Given the description of an element on the screen output the (x, y) to click on. 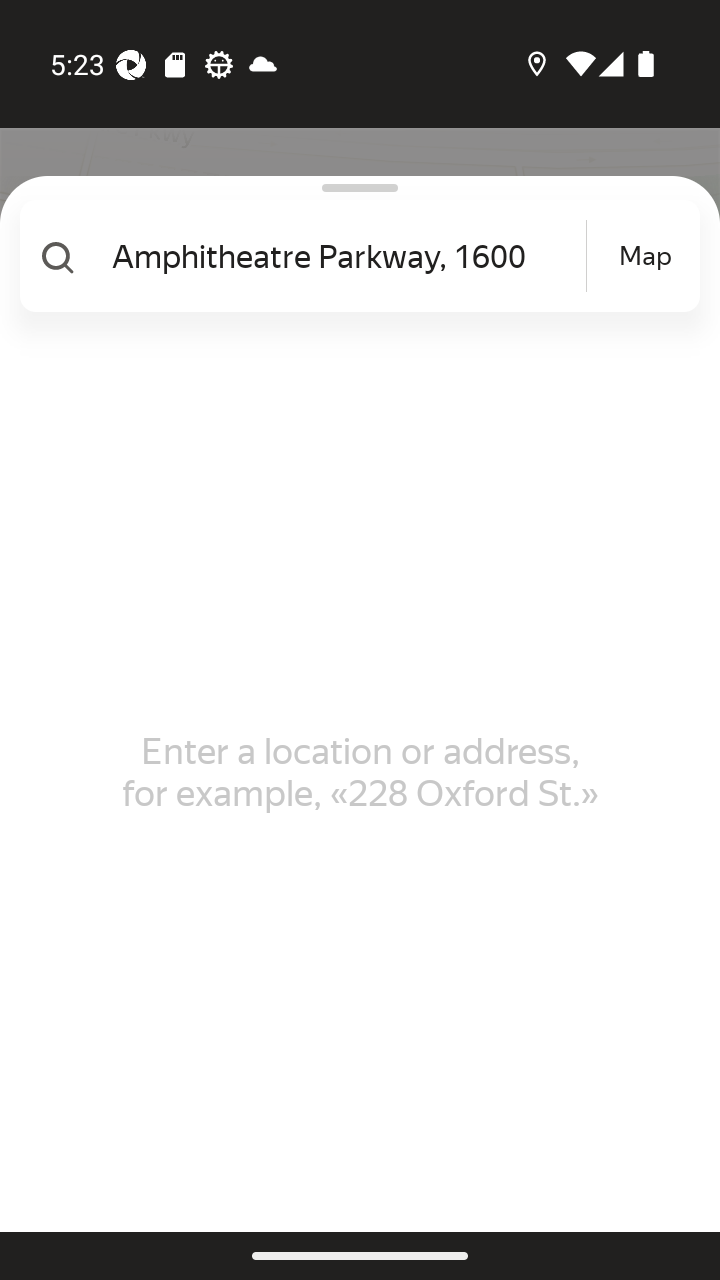
Amphitheatre Parkway, 1600 Map Map (352, 255)
Map (645, 255)
Amphitheatre Parkway, 1600 (346, 255)
